Given the description of an element on the screen output the (x, y) to click on. 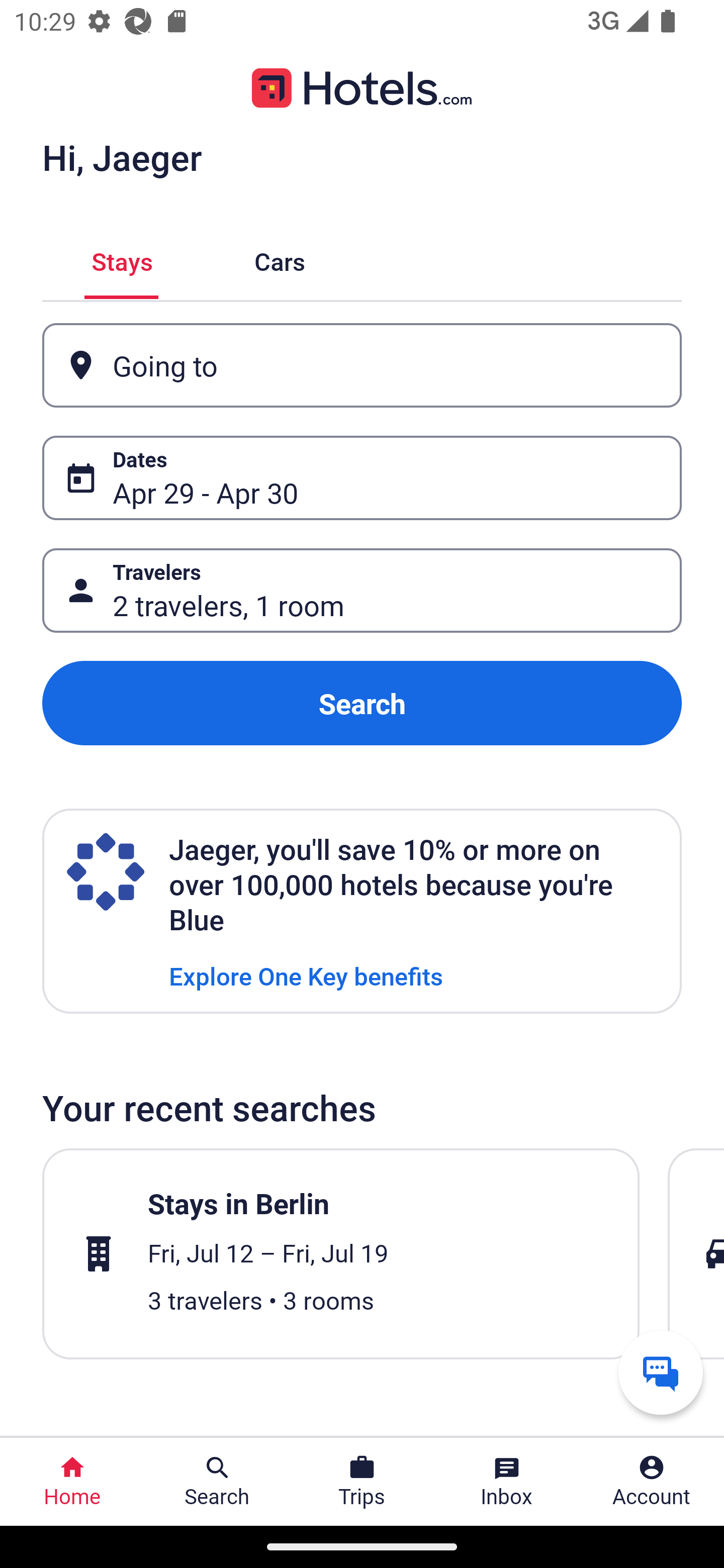
Hi, Jaeger (121, 156)
Cars (279, 259)
Going to Button (361, 365)
Dates Button Apr 29 - Apr 30 (361, 477)
Travelers Button 2 travelers, 1 room (361, 590)
Search (361, 702)
Get help from a virtual agent (660, 1371)
Search Search Button (216, 1481)
Trips Trips Button (361, 1481)
Inbox Inbox Button (506, 1481)
Account Profile. Button (651, 1481)
